Given the description of an element on the screen output the (x, y) to click on. 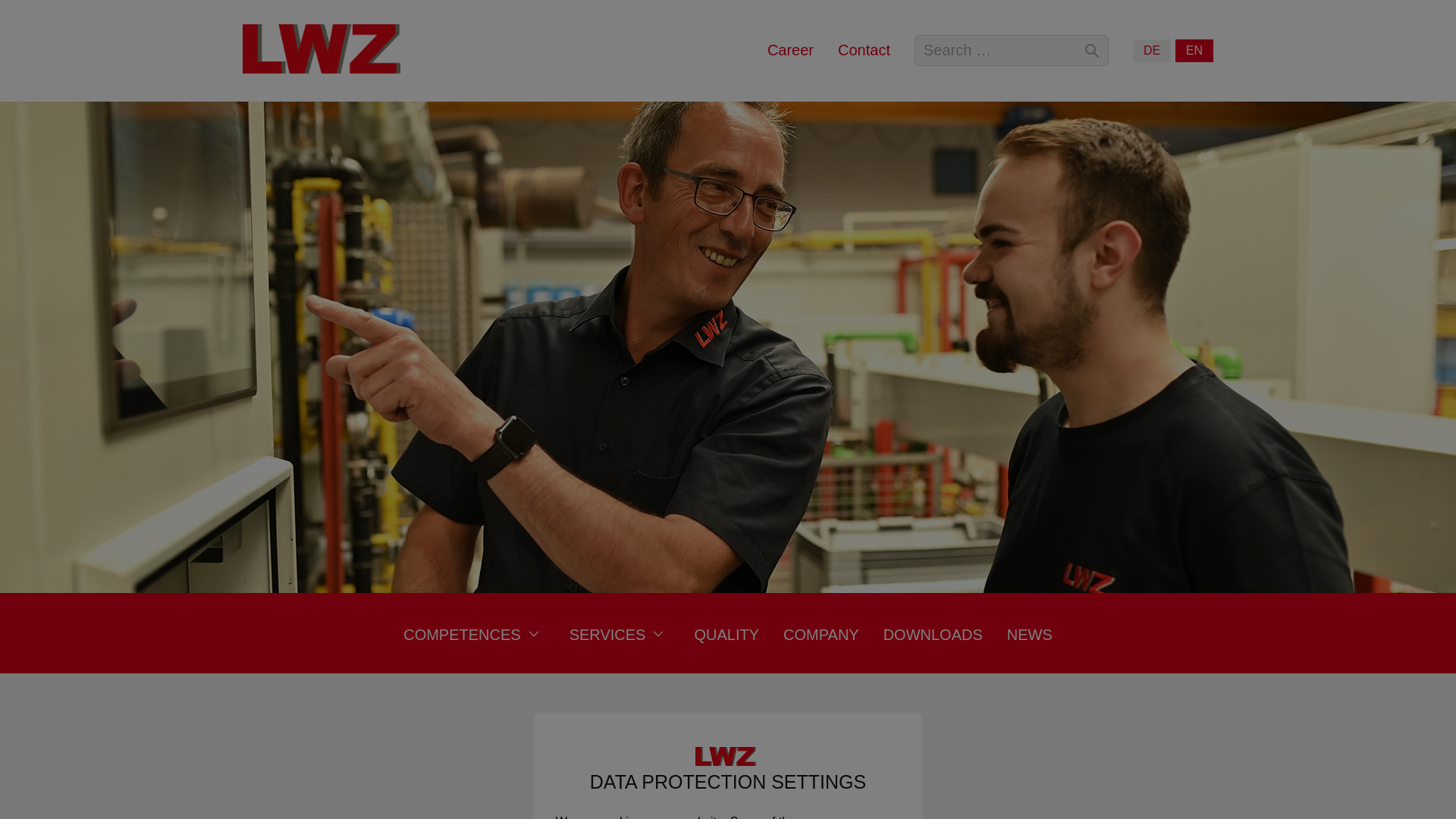
Career (790, 49)
EN (1193, 50)
DE (1151, 50)
Contact (863, 49)
